Given the description of an element on the screen output the (x, y) to click on. 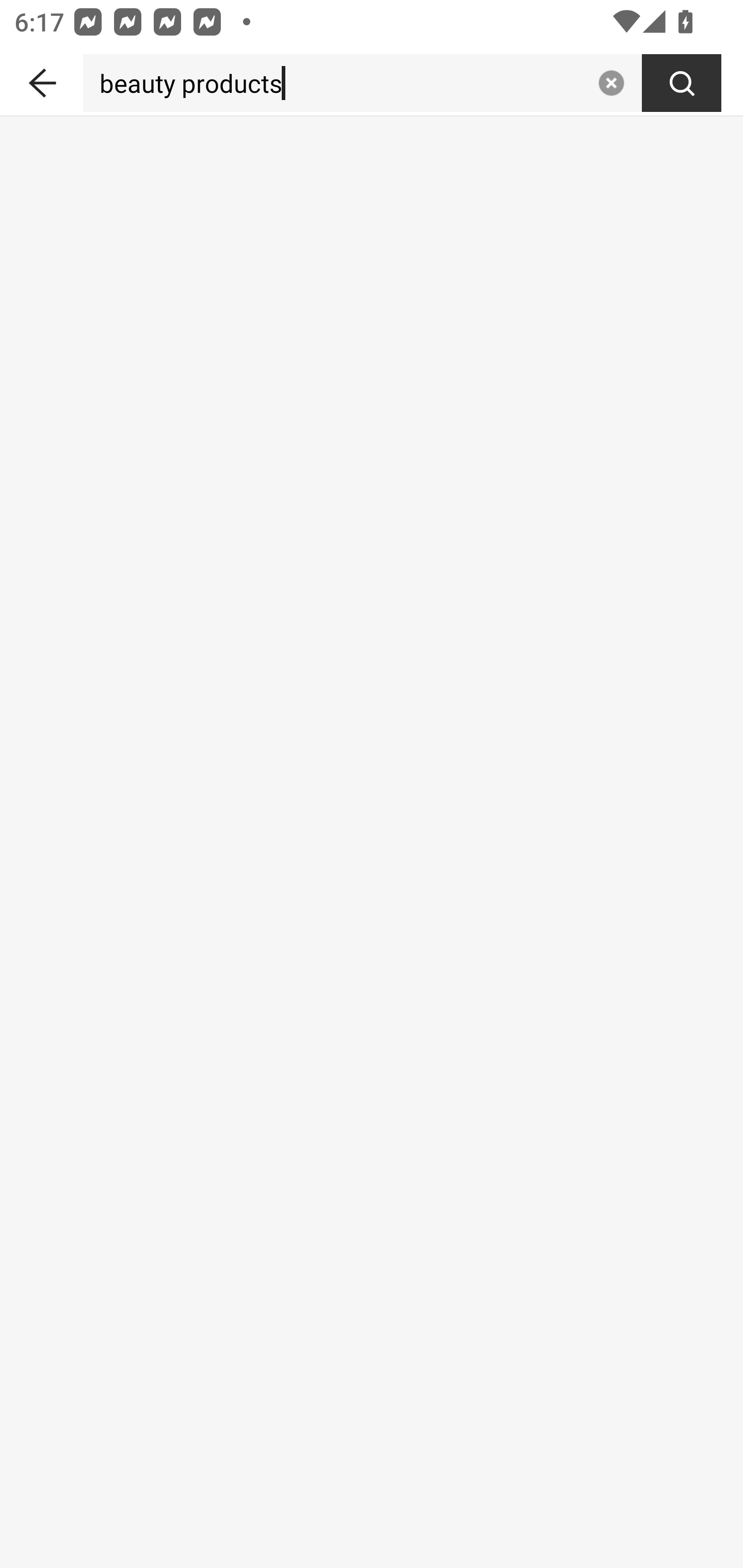
BACK (41, 79)
beauty products (336, 82)
Clear (610, 82)
